Given the description of an element on the screen output the (x, y) to click on. 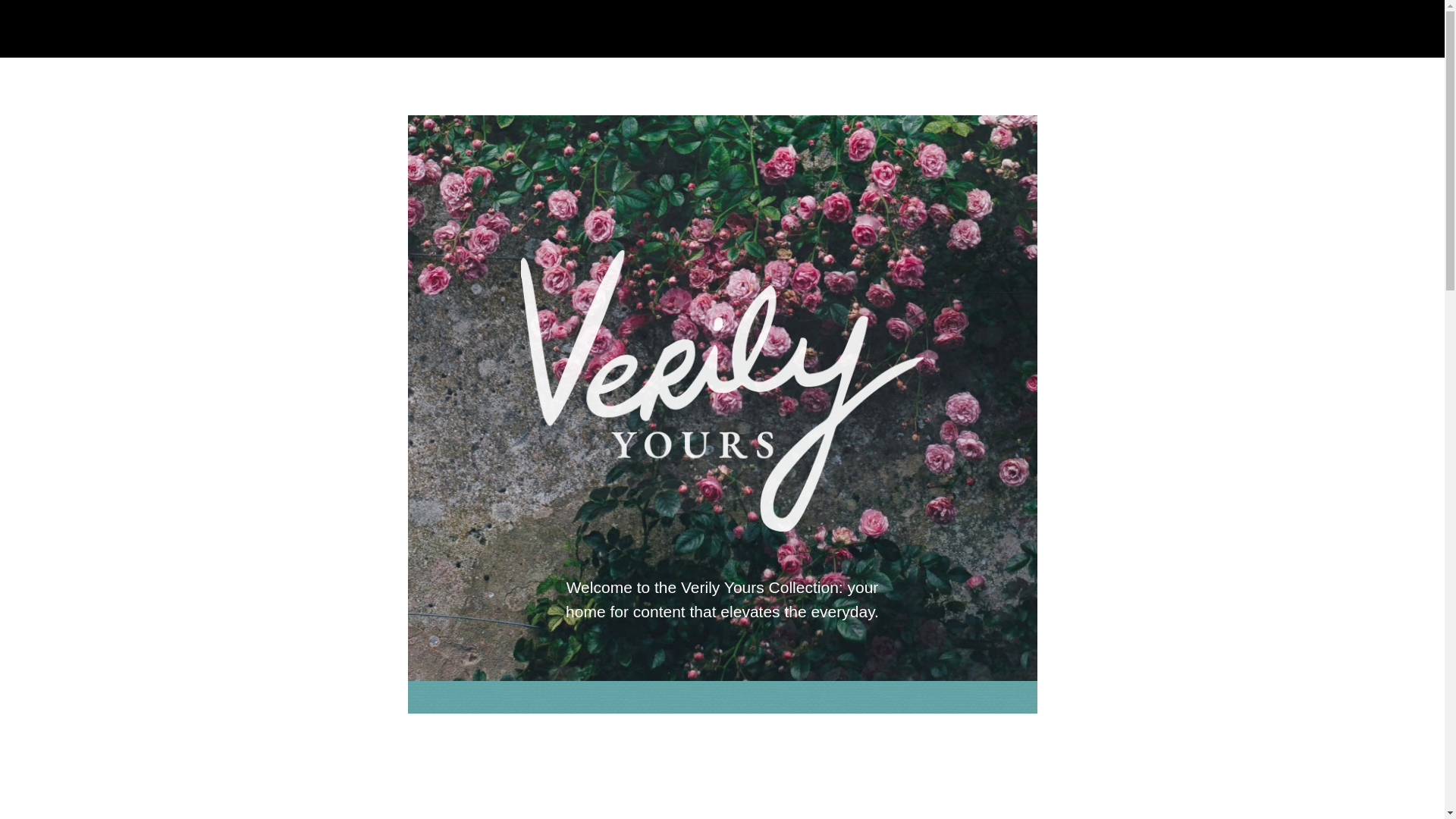
hero logo (722, 390)
VERILY YOURS COLLECTION (644, 28)
